Given the description of an element on the screen output the (x, y) to click on. 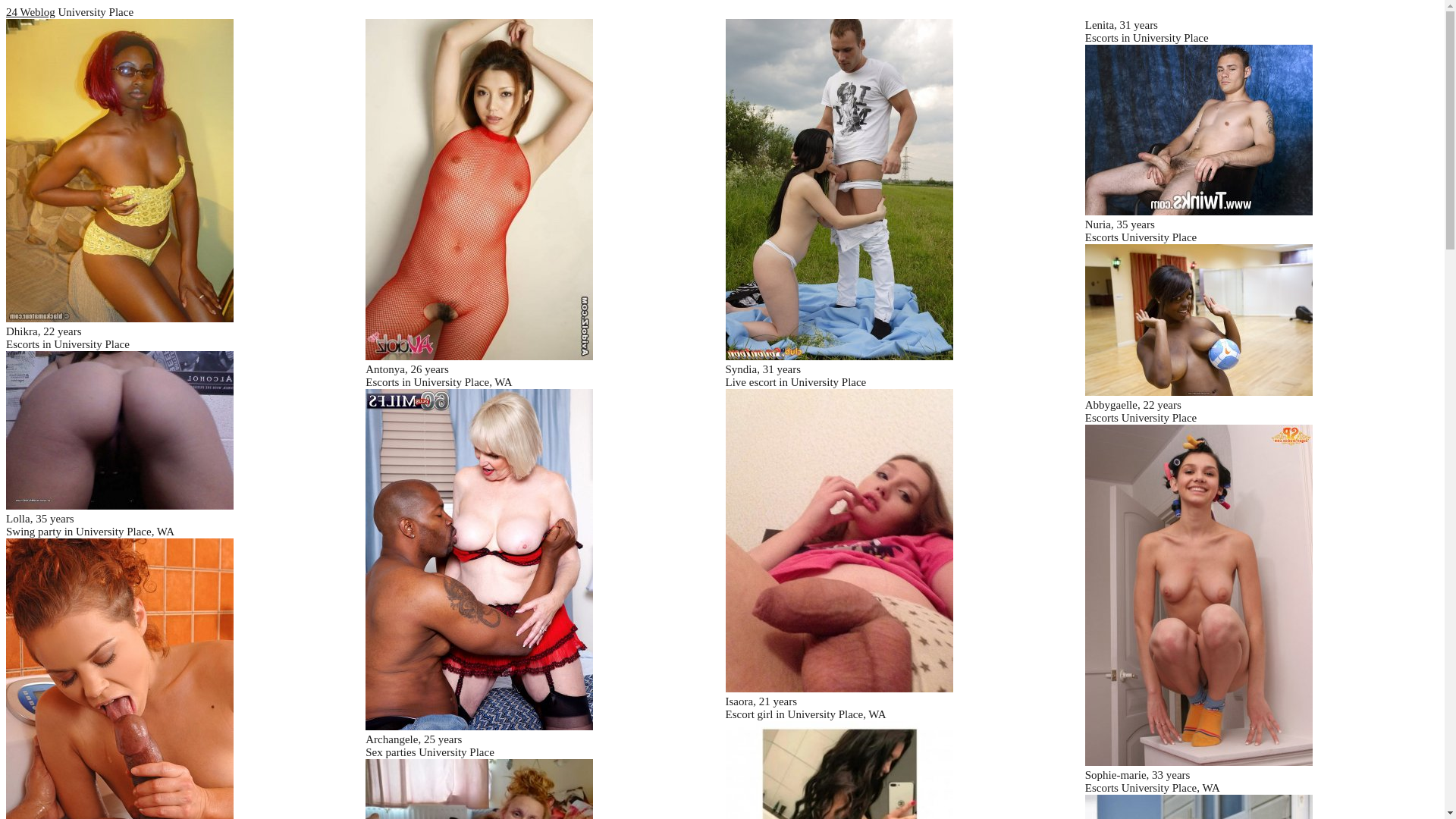
24 Weblog Element type: text (30, 12)
